Given the description of an element on the screen output the (x, y) to click on. 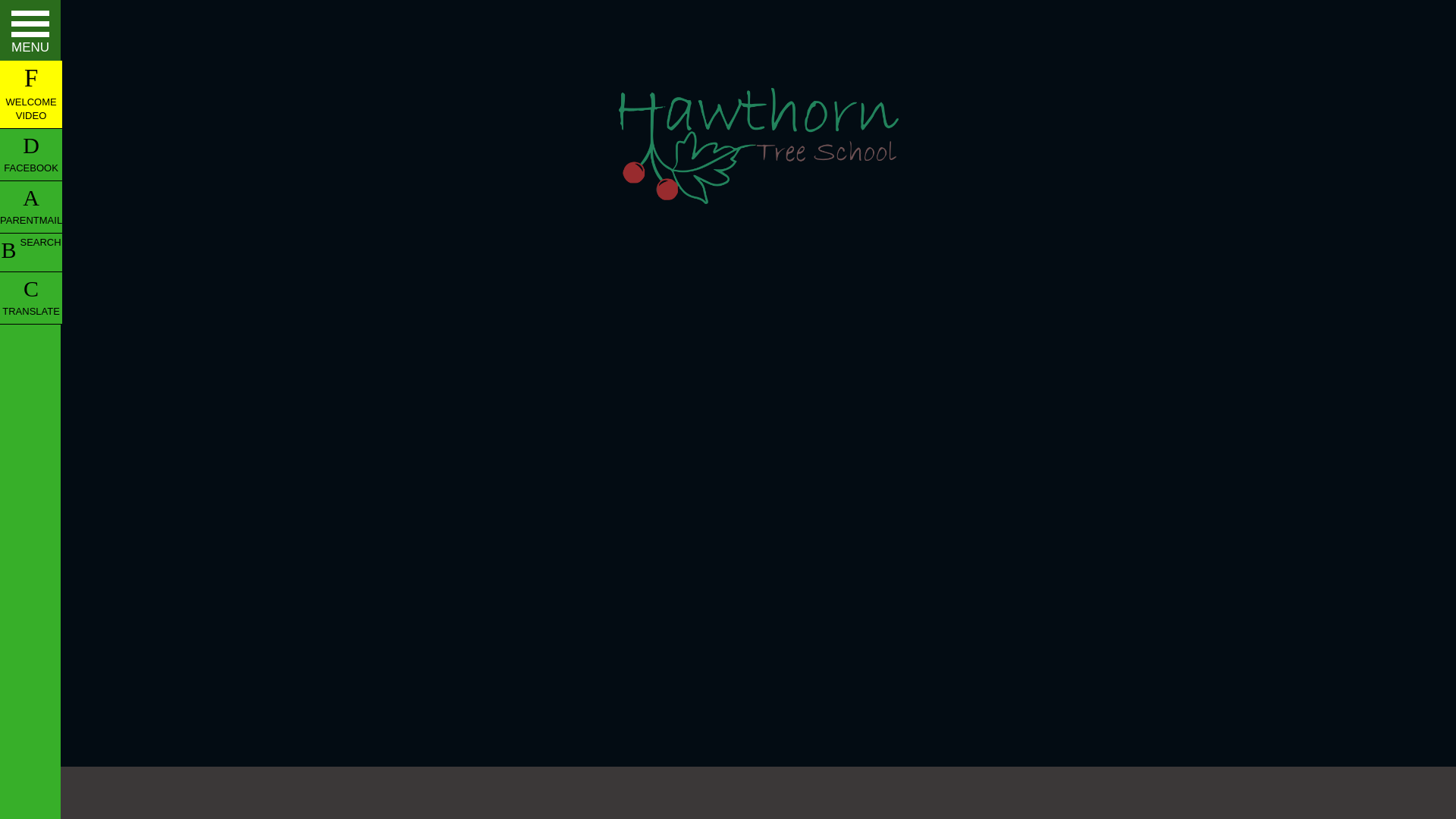
ABOUT US (30, 64)
HOME (30, 21)
Home Page (758, 145)
KEY INFORMATION (30, 107)
